Given the description of an element on the screen output the (x, y) to click on. 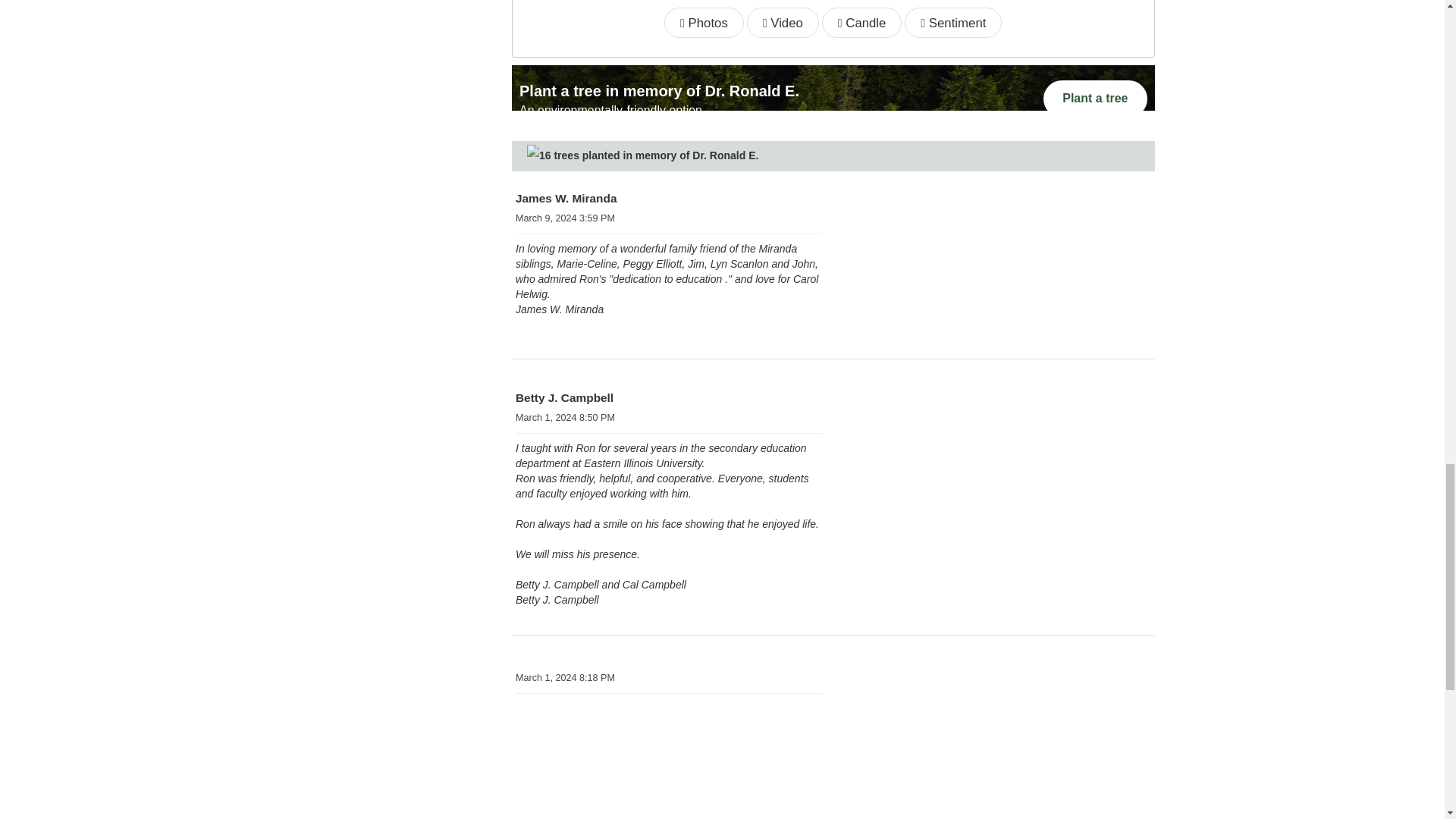
Plant a tree (997, 772)
Plant a tree (997, 302)
Plant a tree (997, 496)
Plant a tree (997, 501)
Plant a tree (1095, 98)
Plant a tree (997, 297)
Plant a tree (1095, 98)
Plant a tree (997, 777)
